Given the description of an element on the screen output the (x, y) to click on. 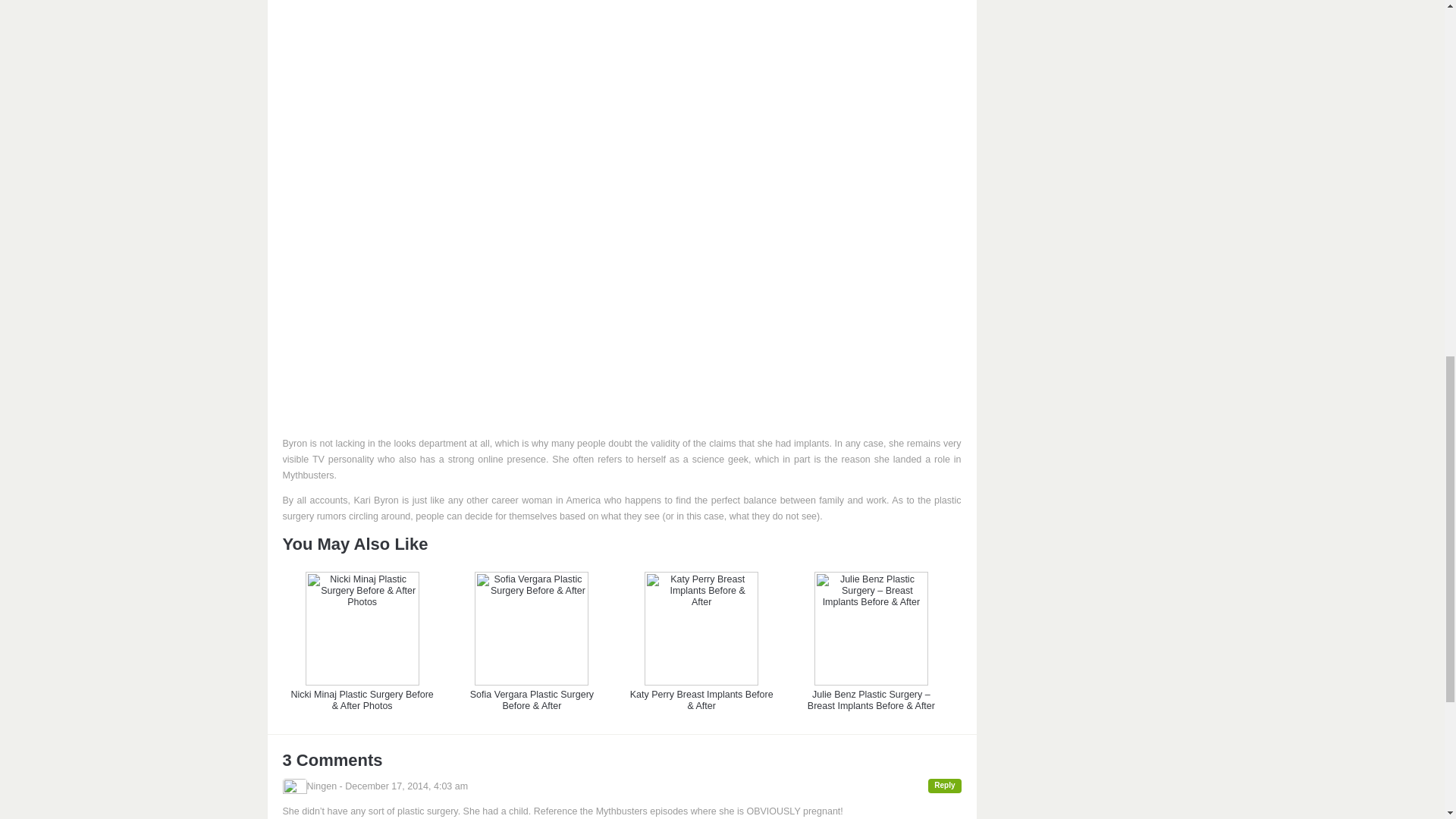
Reply (944, 785)
